Given the description of an element on the screen output the (x, y) to click on. 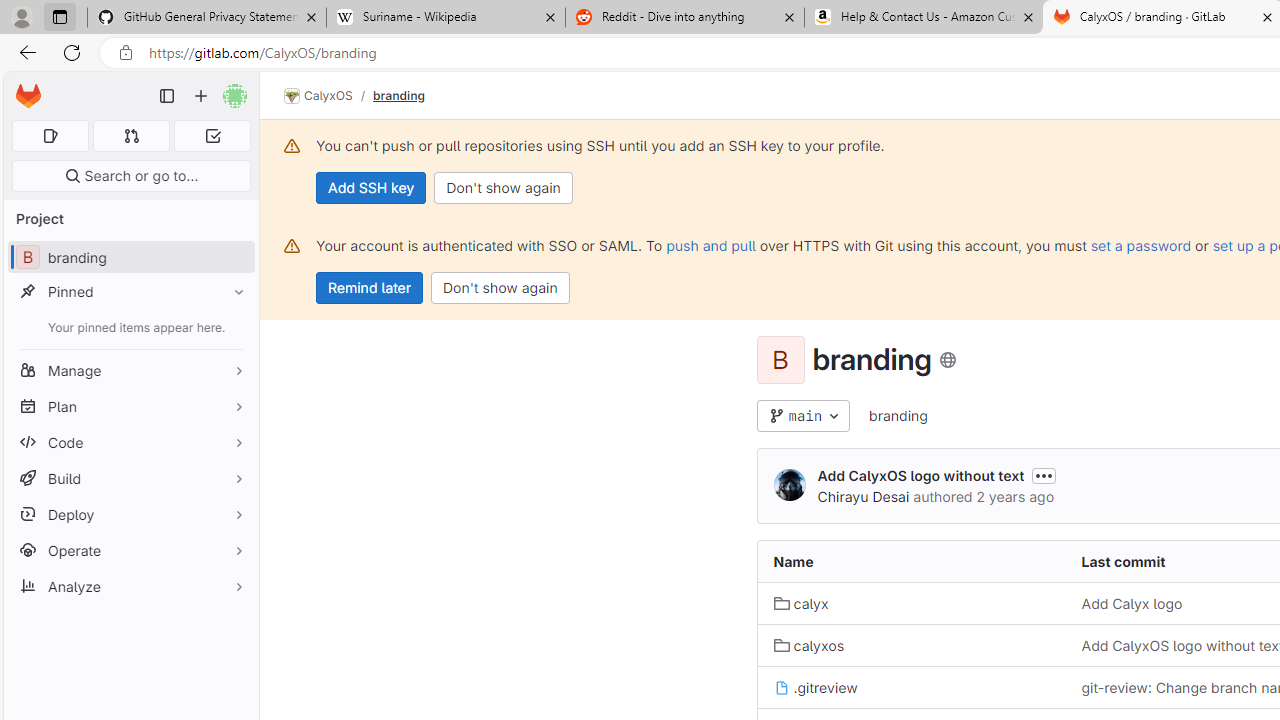
Add Calyx logo (1131, 603)
GitHub General Privacy Statement - GitHub Docs (207, 17)
Operate (130, 550)
Add SSH key (371, 187)
Code (130, 442)
set a password (1140, 245)
Don't show again (500, 287)
calyxos (911, 645)
.gitreview (815, 686)
Chirayu Desai (863, 496)
